Given the description of an element on the screen output the (x, y) to click on. 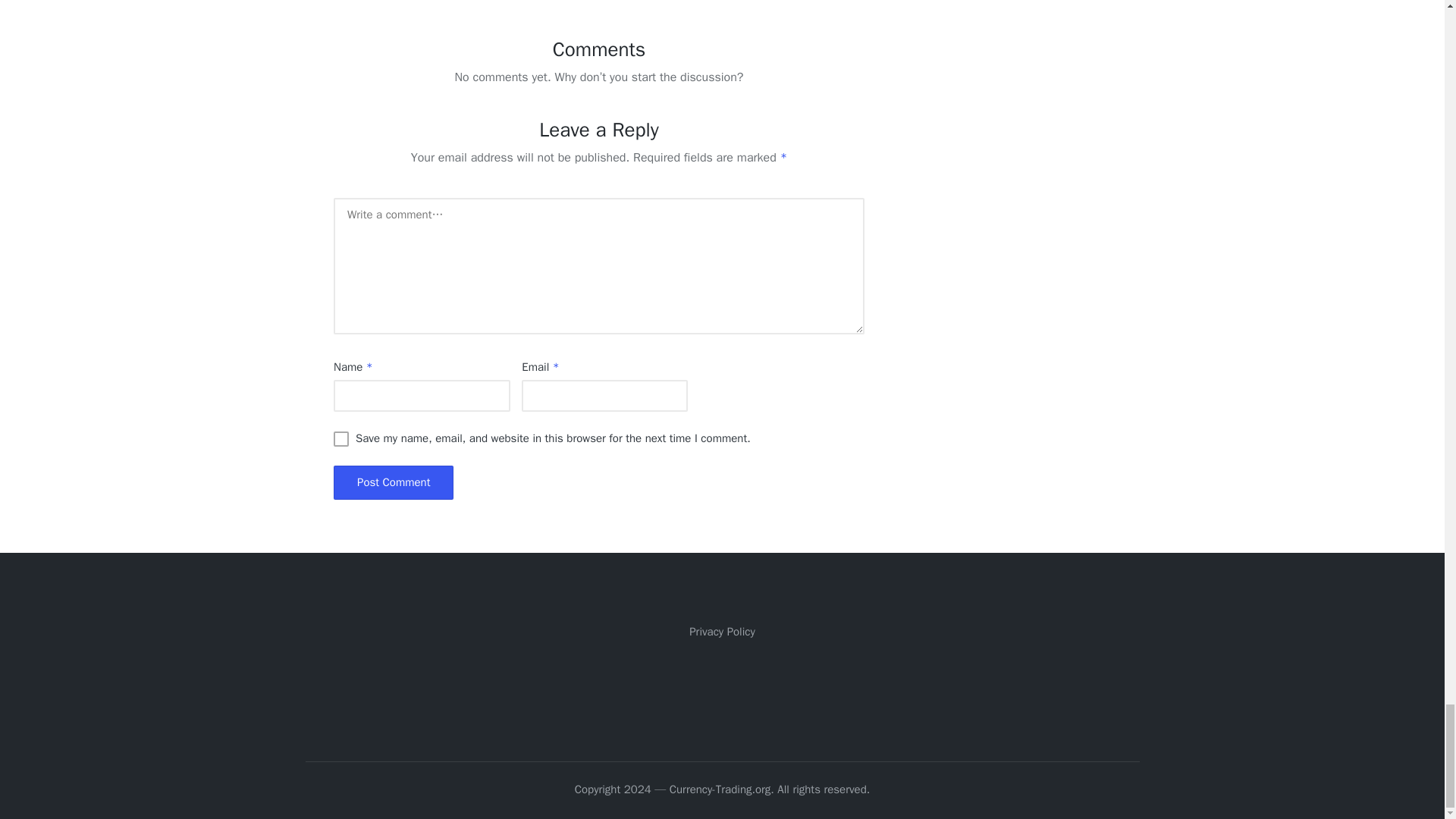
DMCA.com Protection Status (722, 688)
yes (341, 438)
Post Comment (392, 482)
Post Comment (392, 482)
